Given the description of an element on the screen output the (x, y) to click on. 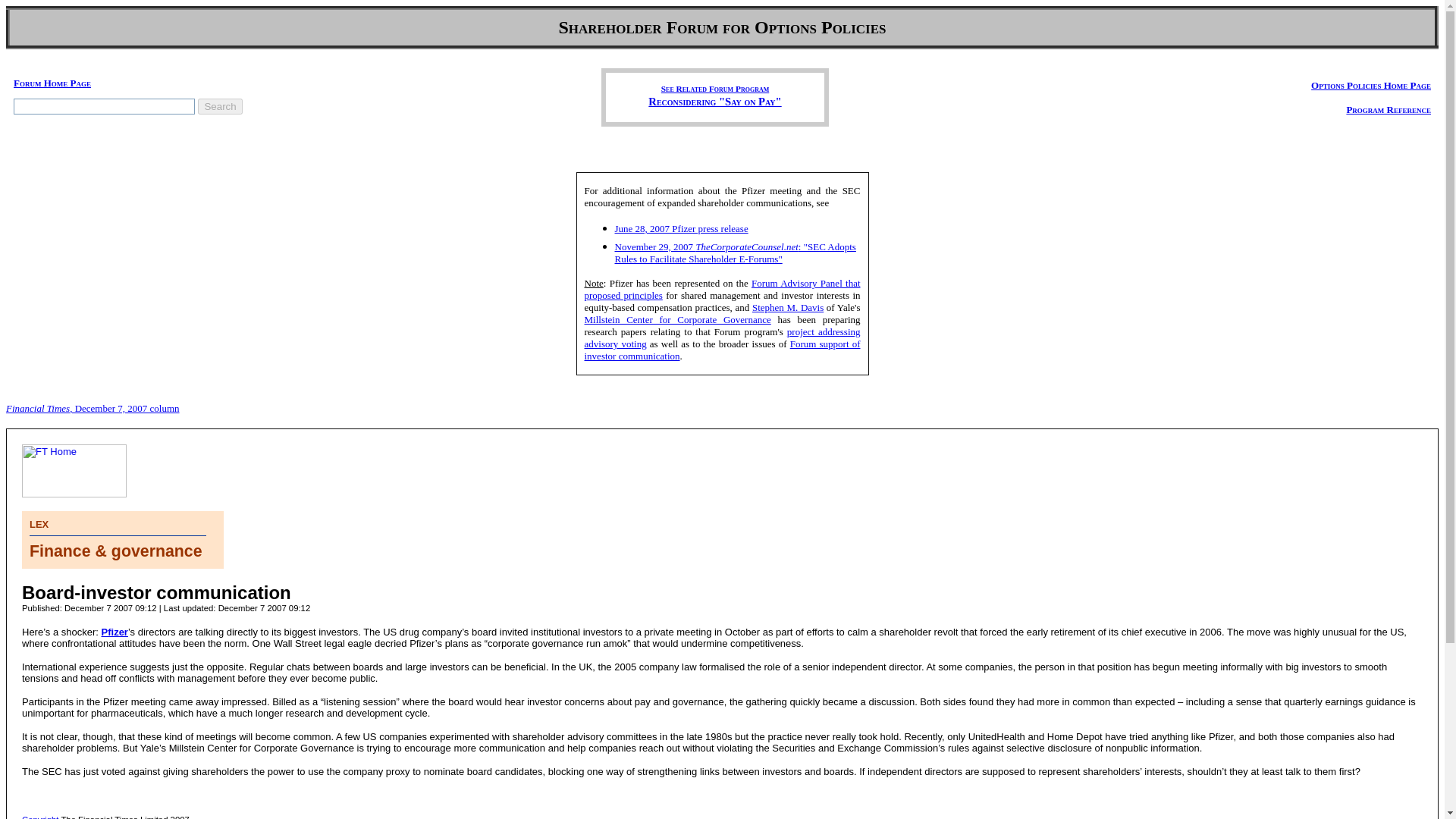
Reconsidering "Say on Pay" (713, 101)
Millstein Center for Corporate Governance (676, 319)
Options Policies Home Page (1371, 84)
June 28, 2007 Pfizer press release (681, 228)
See Related Forum Program (714, 87)
project addressing advisory voting (721, 337)
Forum Advisory Panel that proposed principles (721, 289)
Copyright (39, 816)
Program Reference (1388, 108)
Search (219, 106)
